Given the description of an element on the screen output the (x, y) to click on. 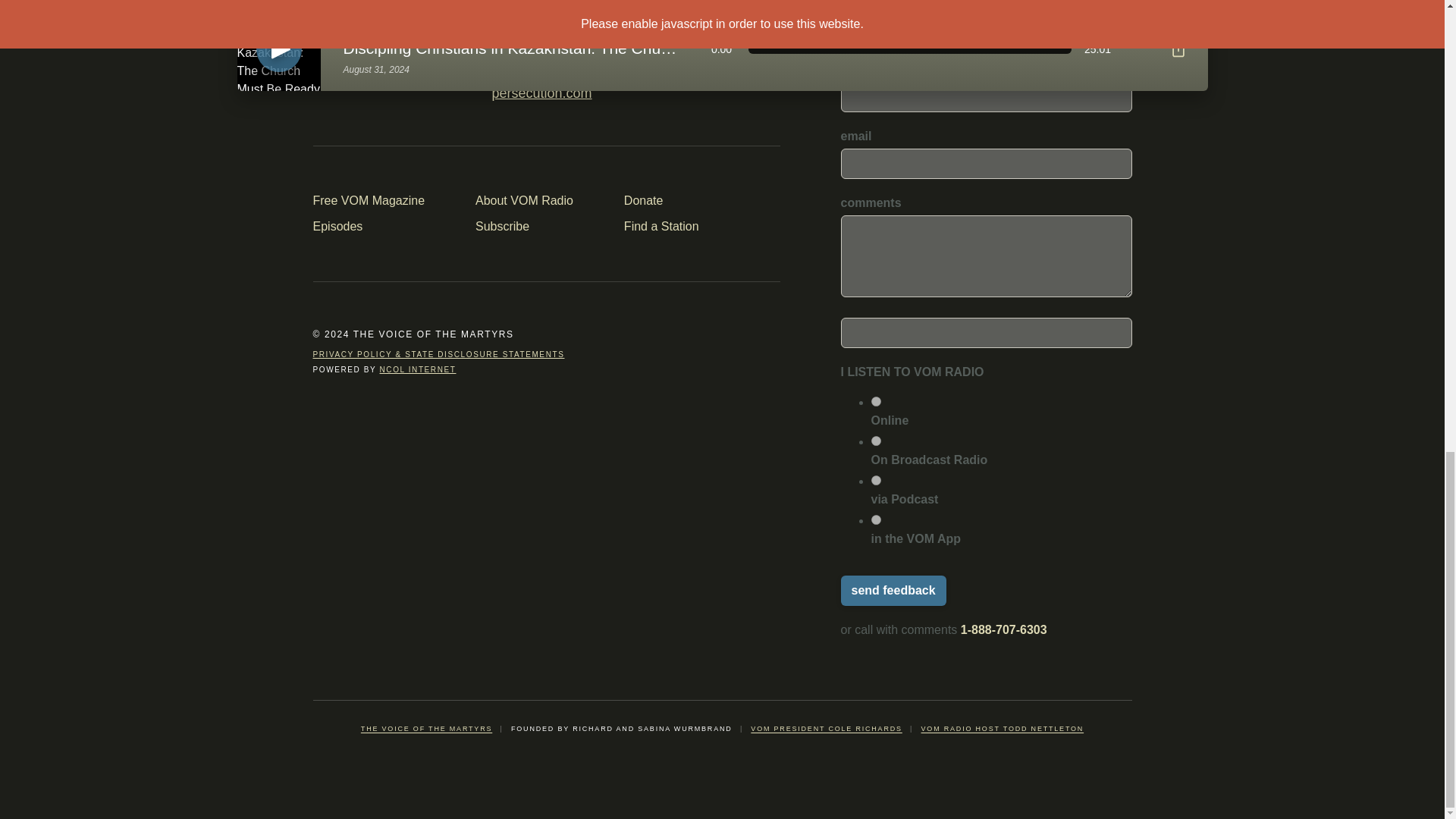
About VOM Radio (535, 200)
On Broadcast Radio (875, 440)
1-888-707-6303 (635, 85)
Subscribe (1003, 629)
YouTube (535, 226)
Instagram (392, 85)
Pinterest (459, 85)
Online (425, 85)
Twitter (875, 401)
